Given the description of an element on the screen output the (x, y) to click on. 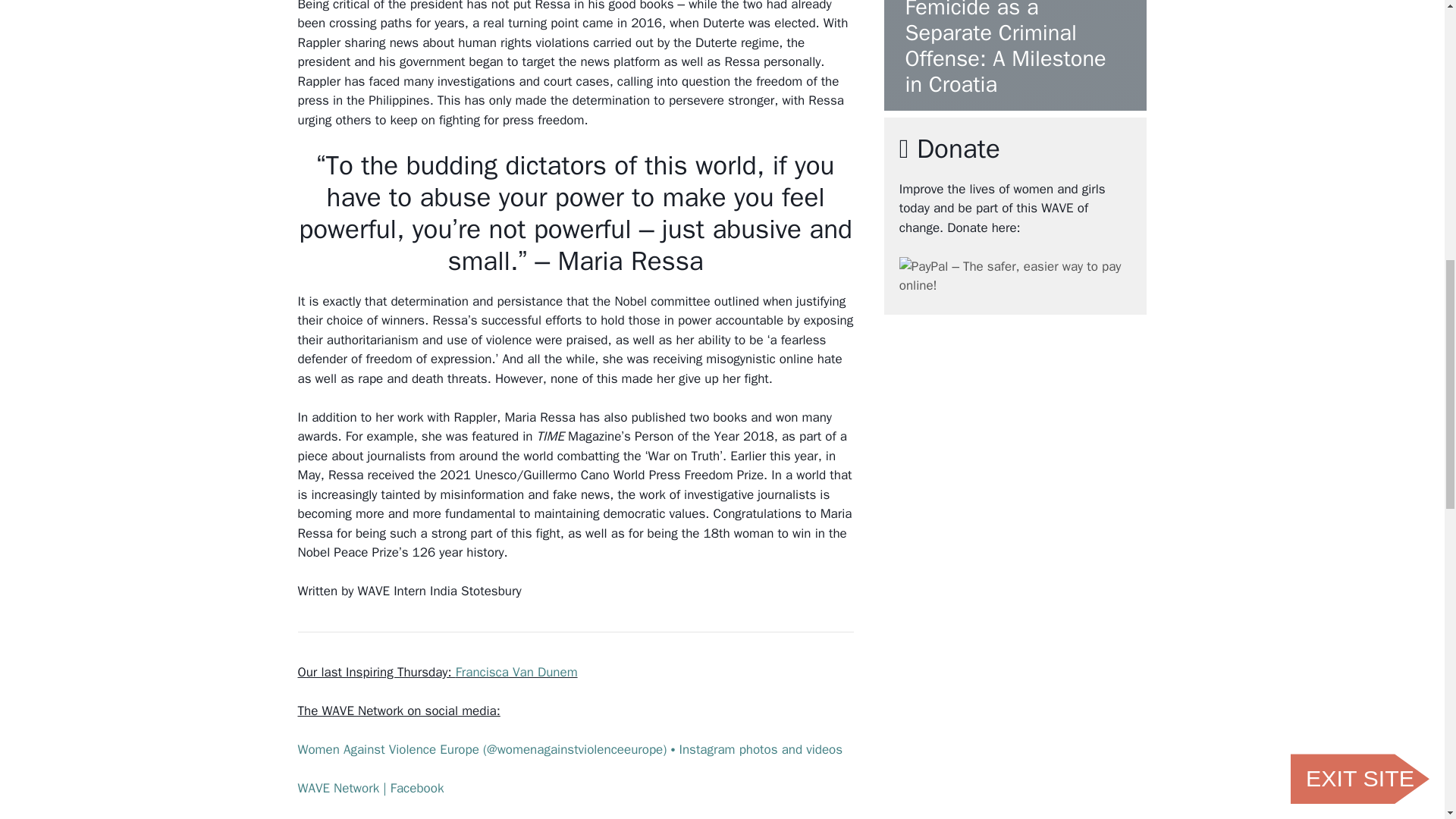
Francisca Van Dunem (516, 672)
Scroll back to top (1406, 720)
